Given the description of an element on the screen output the (x, y) to click on. 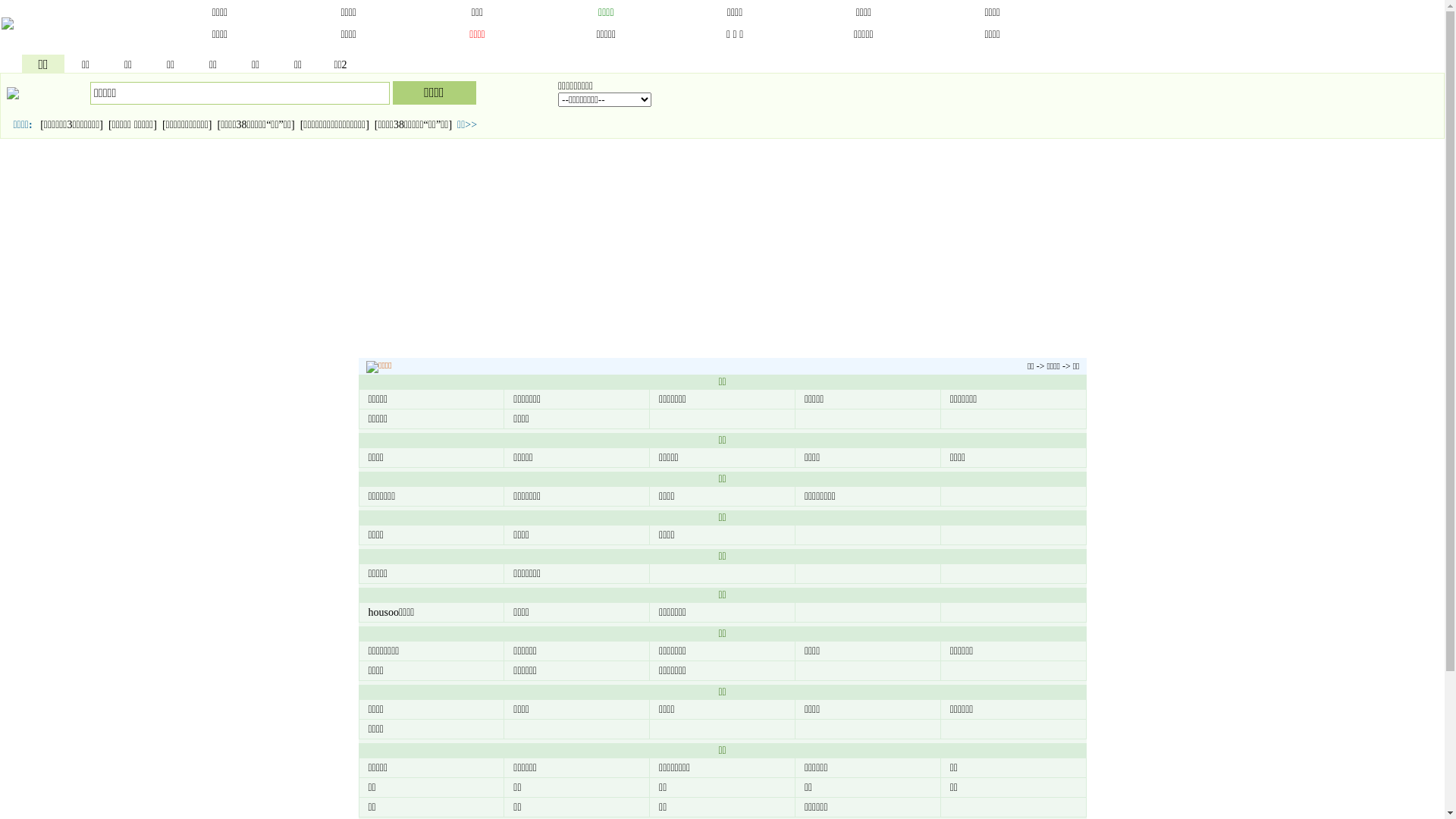
Advertisement Element type: hover (721, 250)
